Given the description of an element on the screen output the (x, y) to click on. 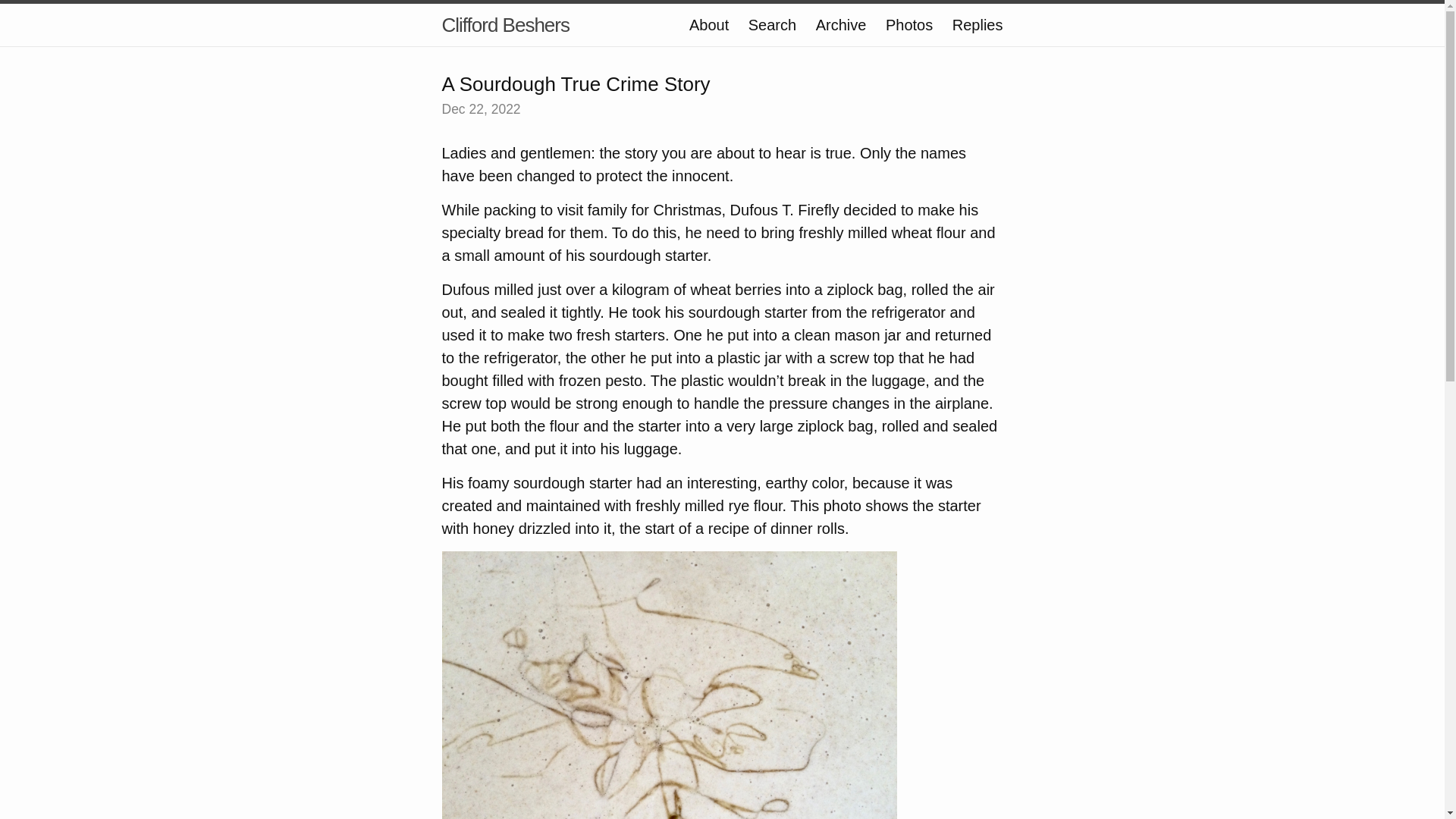
Click to enlarge. (668, 720)
About (708, 24)
Clifford Beshers (505, 24)
Archive (840, 24)
Photos (909, 24)
Search (772, 24)
Replies (977, 24)
